Given the description of an element on the screen output the (x, y) to click on. 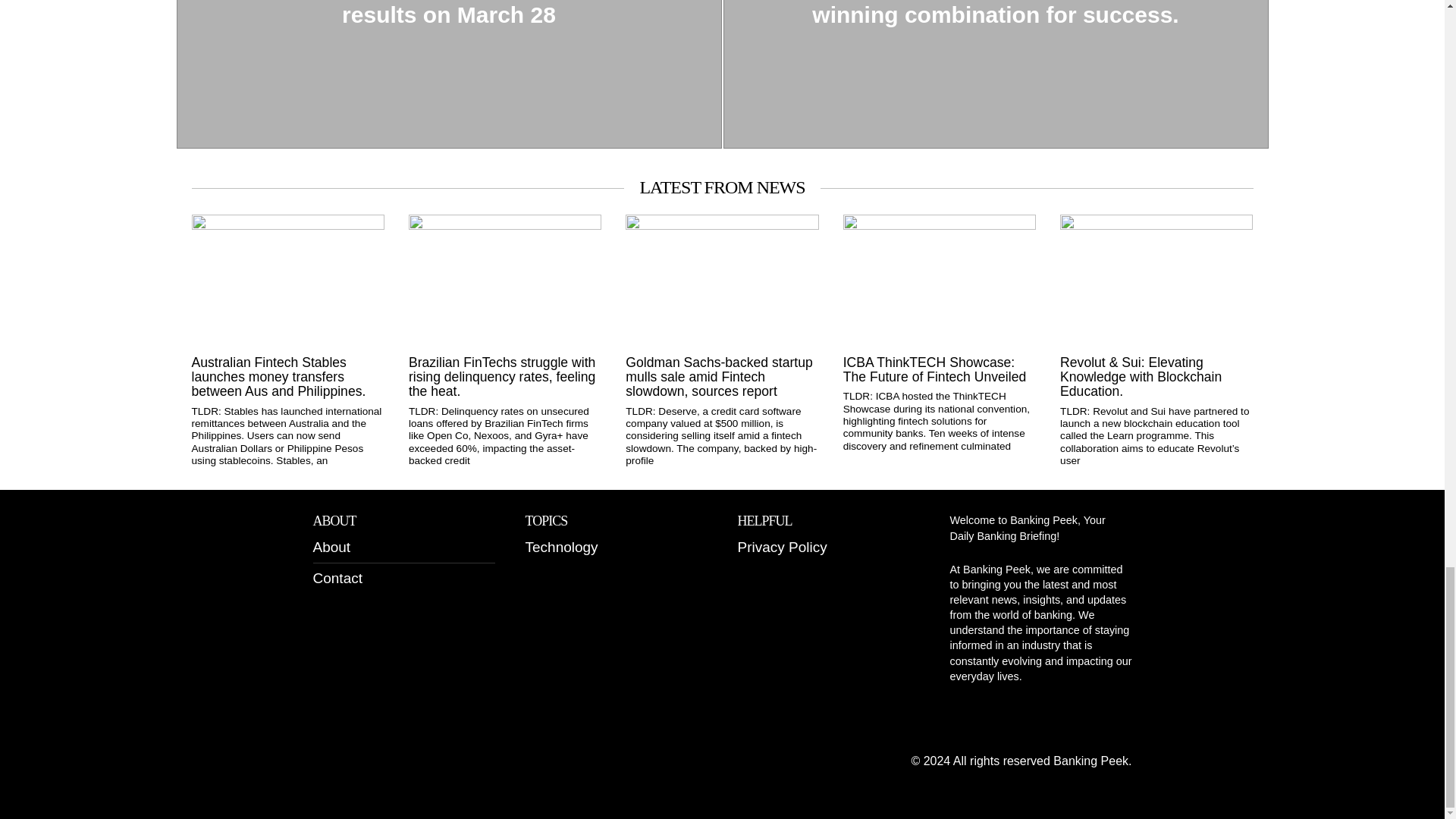
Privacy Policy (781, 546)
Contact (337, 578)
ICBA ThinkTECH Showcase: The Future of Fintech Unveiled (939, 369)
About (331, 546)
Technology (560, 546)
